Given the description of an element on the screen output the (x, y) to click on. 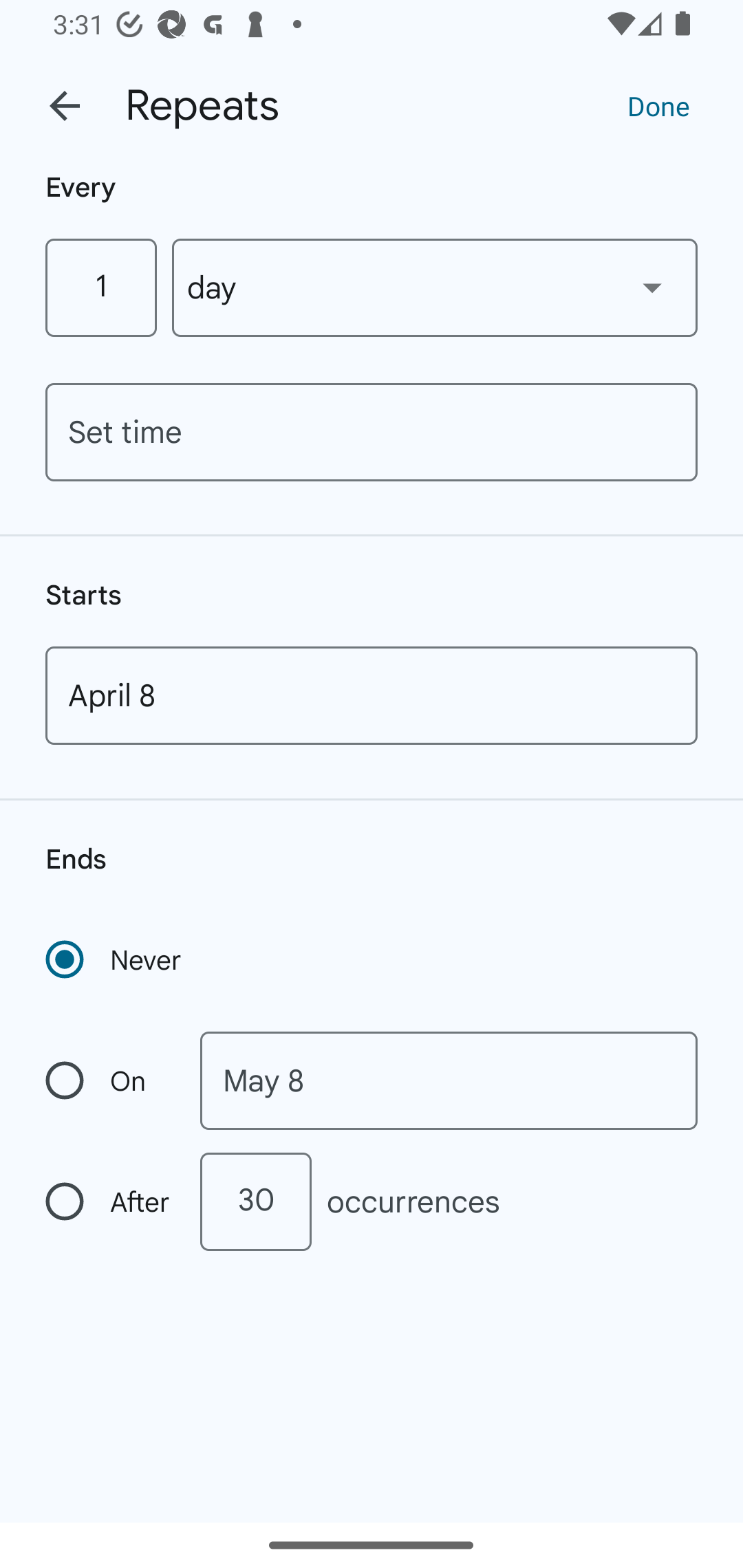
Back (64, 105)
Done (658, 105)
1 (100, 287)
day (434, 287)
Show dropdown menu (652, 286)
Set time (371, 431)
April 8 (371, 695)
Never Recurrence never ends (115, 959)
May 8 (448, 1080)
On Recurrence ends on a specific date (109, 1080)
30 (255, 1201)
